Given the description of an element on the screen output the (x, y) to click on. 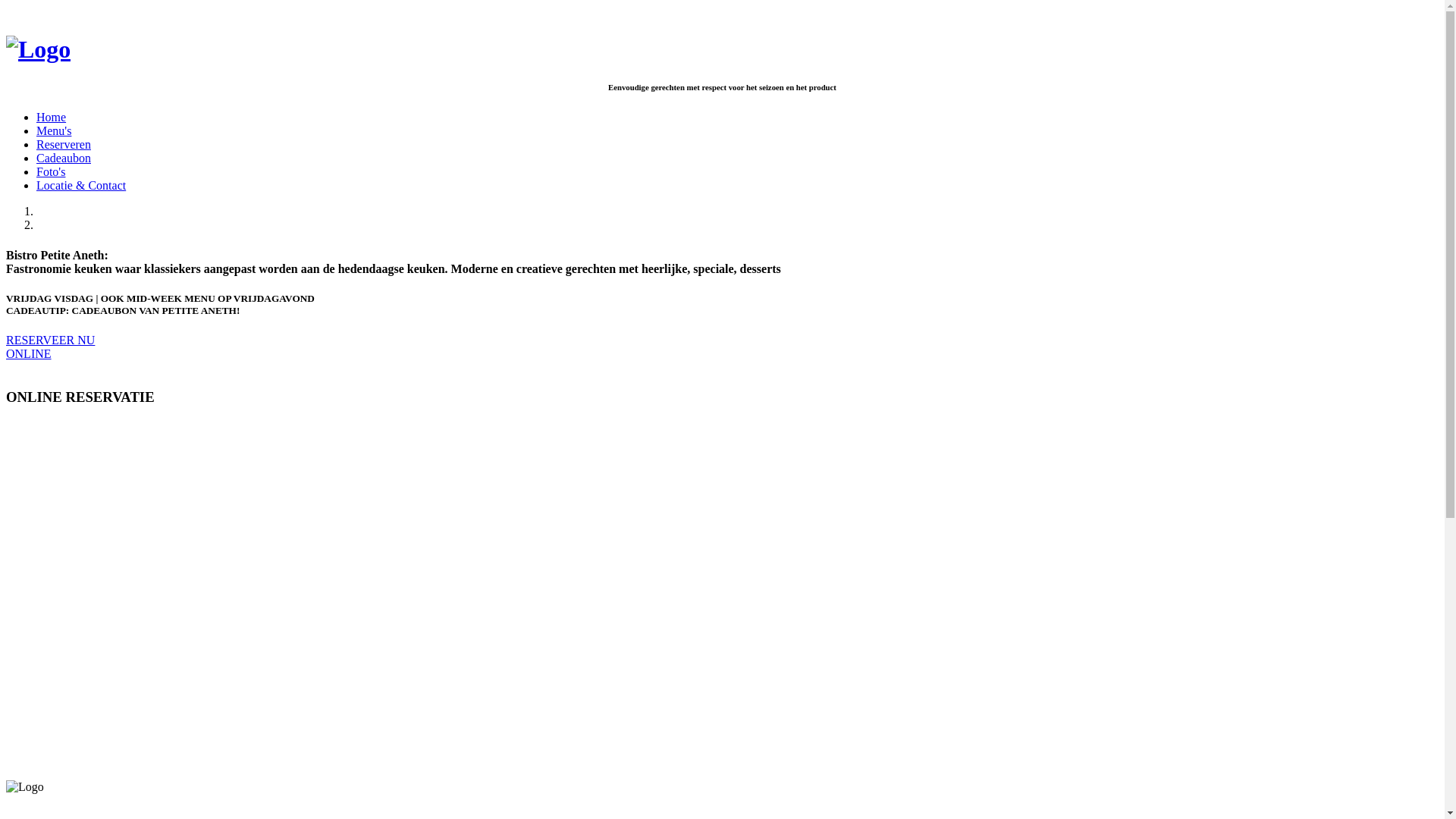
RESERVEER NU
ONLINE Element type: text (50, 346)
Locatie & Contact Element type: text (80, 184)
Cadeaubon Element type: text (63, 157)
Foto's Element type: text (50, 171)
Menu's Element type: text (53, 130)
Reserveren Element type: text (63, 144)
Home Element type: text (50, 116)
